Given the description of an element on the screen output the (x, y) to click on. 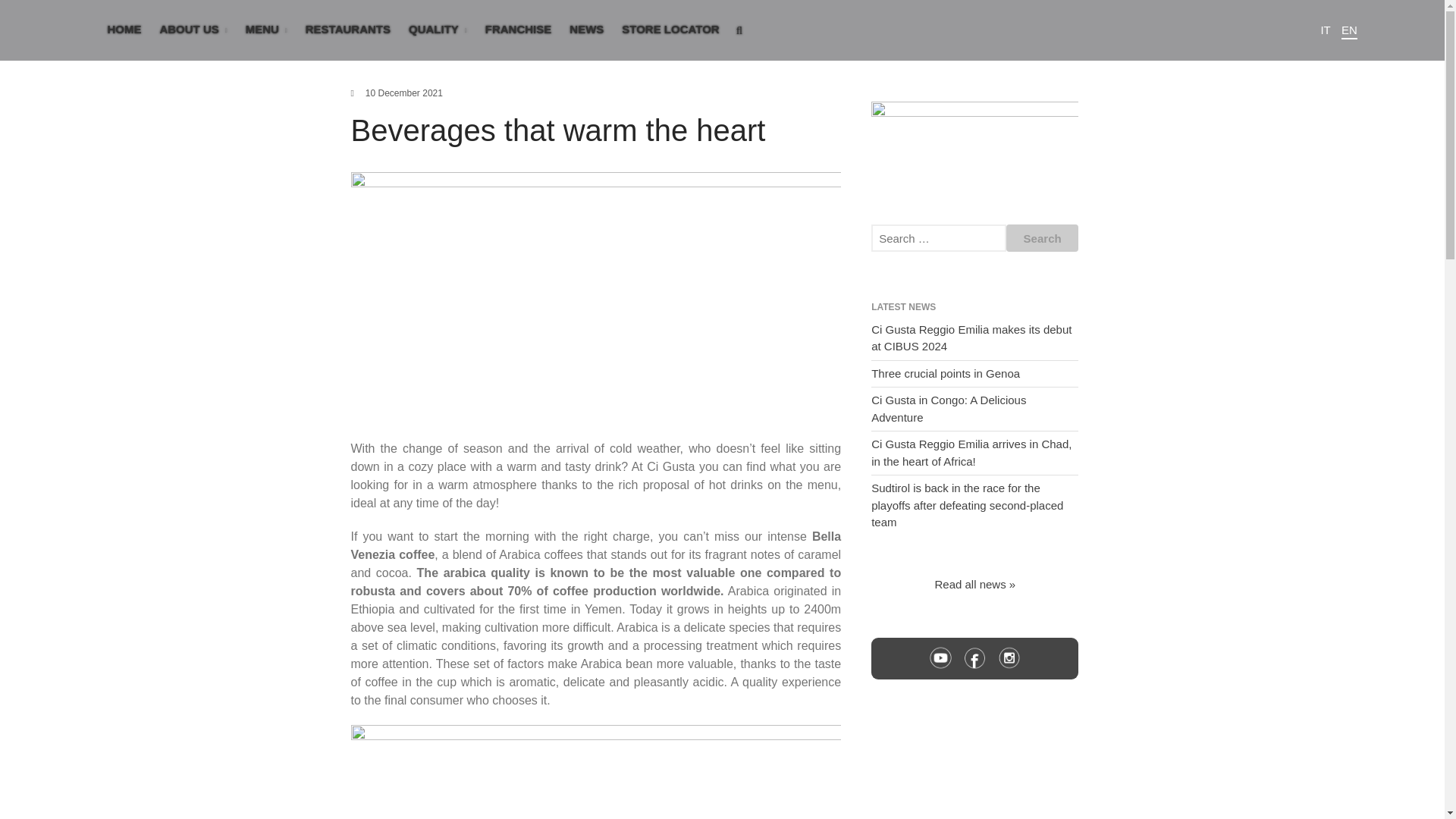
MENU (266, 29)
Search (1042, 237)
Search (1356, 591)
Search (1042, 237)
ABOUT US (192, 29)
HOME (123, 29)
